Given the description of an element on the screen output the (x, y) to click on. 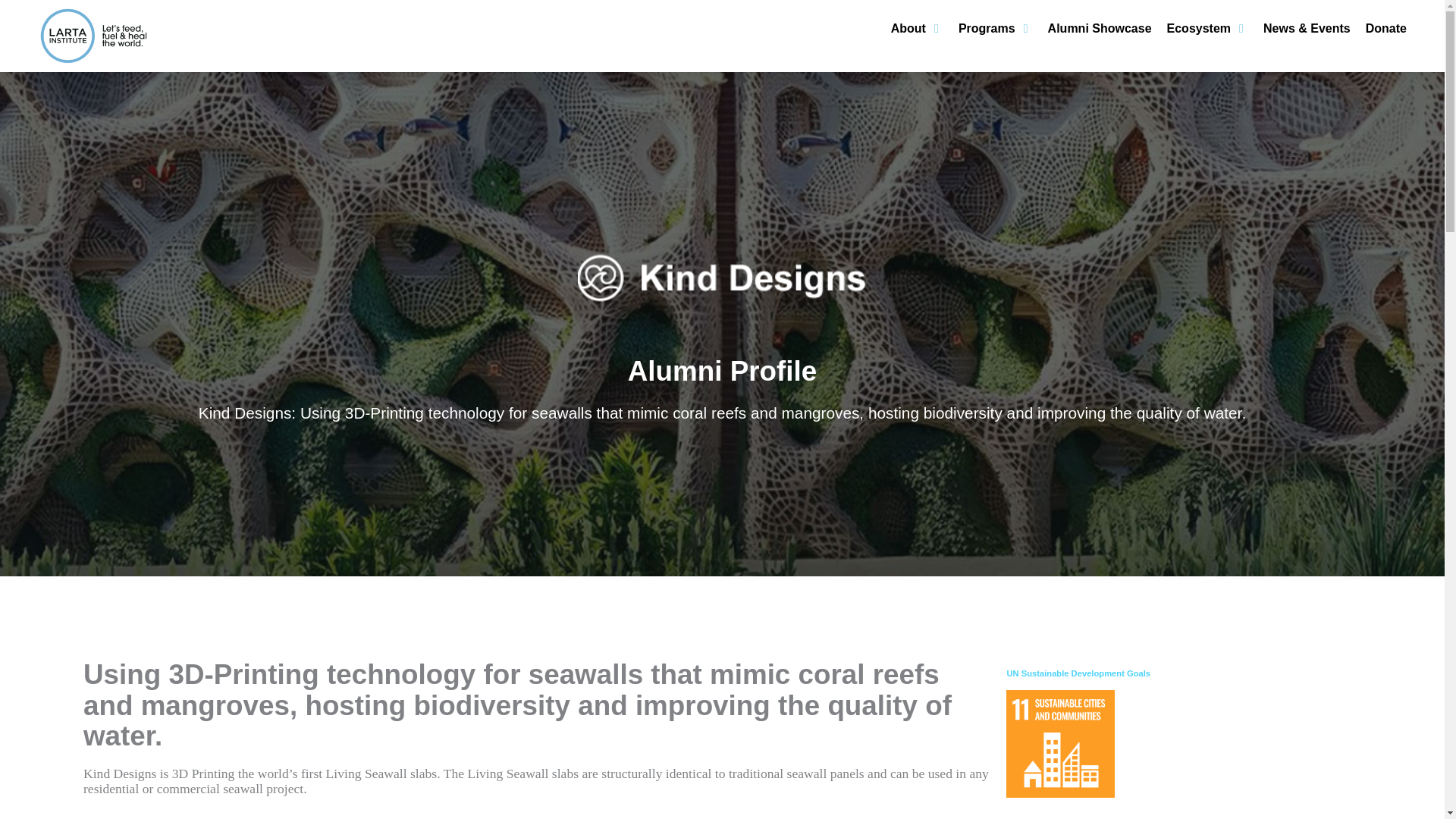
About (908, 28)
Programs (986, 28)
Alumni Showcase (1099, 28)
Ecosystem (1199, 28)
